Given the description of an element on the screen output the (x, y) to click on. 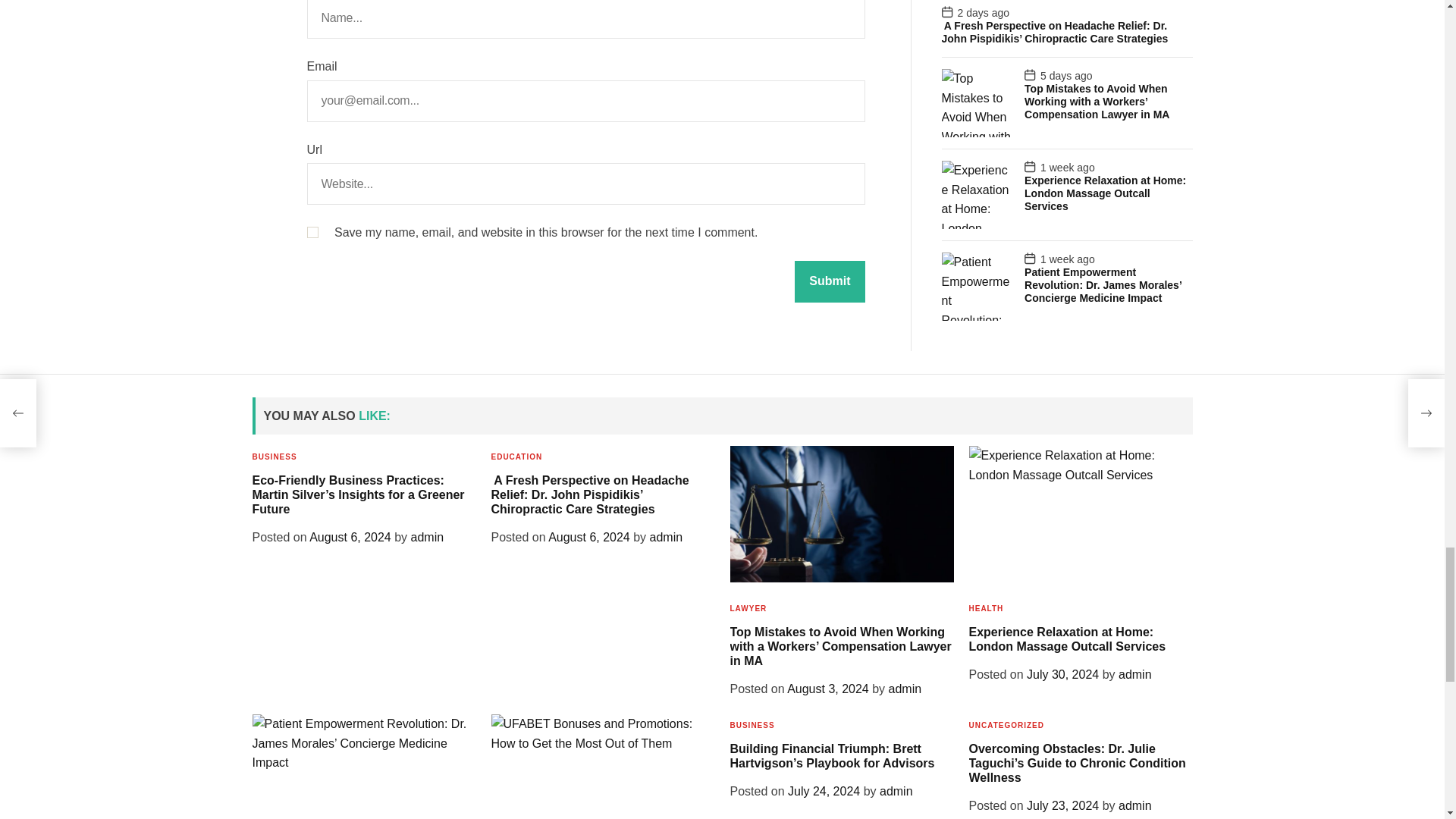
Submit (829, 281)
yes (311, 232)
